Given the description of an element on the screen output the (x, y) to click on. 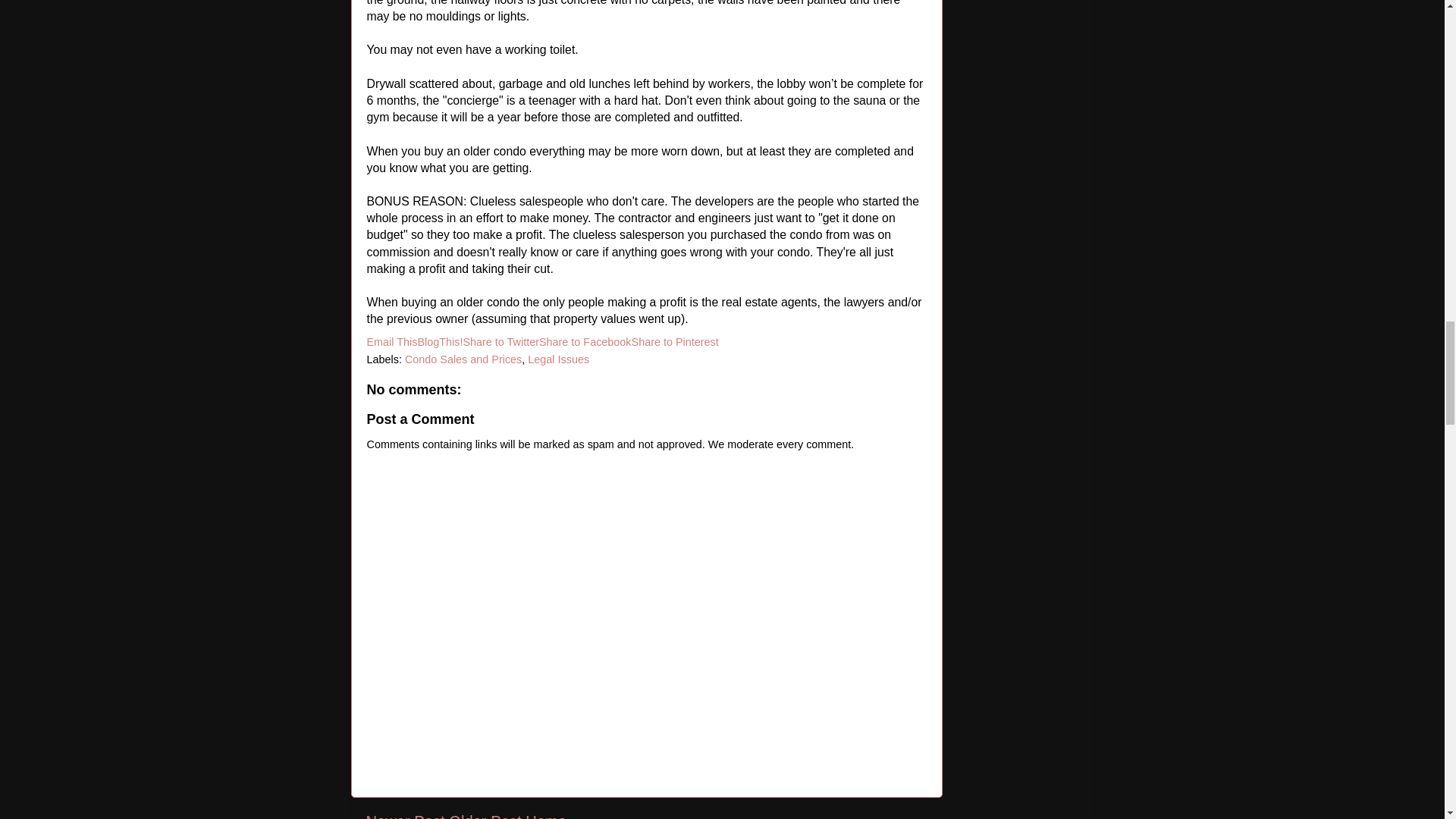
BlogThis! (439, 341)
Share to Twitter (500, 341)
Email This (391, 341)
Newer Post (404, 816)
Share to Pinterest (675, 341)
Older Post (484, 816)
Share to Facebook (584, 341)
